Given the description of an element on the screen output the (x, y) to click on. 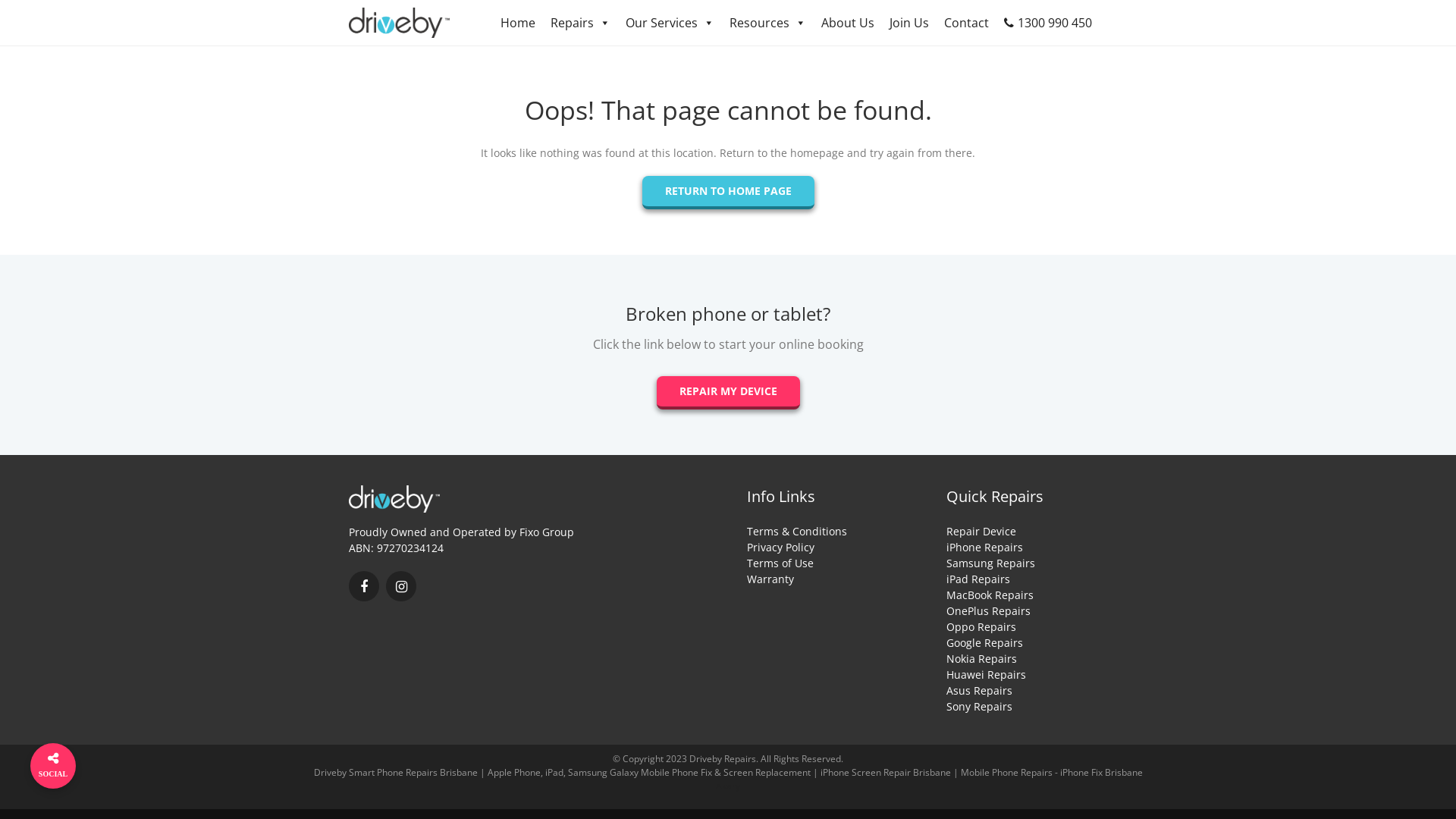
MacBook Repairs Element type: text (989, 594)
Resources Element type: text (767, 22)
Join Us Element type: text (908, 22)
Nokia Repairs Element type: text (981, 658)
iPad Repairs Element type: text (978, 578)
Google Repairs Element type: text (984, 642)
Huawei Repairs Element type: text (986, 674)
Contact Element type: text (966, 22)
Terms & Conditions Element type: text (796, 531)
Samsung Repairs Element type: text (990, 562)
iPhone Repairs Element type: text (984, 546)
Sony Repairs Element type: text (979, 706)
Repair Device Element type: text (981, 531)
Driveby - Smart Phone Repairs Element type: hover (393, 498)
Terms of Use Element type: text (779, 562)
RETURN TO HOME PAGE Element type: text (727, 192)
Repairs Element type: text (580, 22)
REPAIR MY DEVICE Element type: text (728, 392)
Privacy Policy Element type: text (780, 546)
Driveby - Smart Phone Repairs Element type: hover (398, 22)
Oppo Repairs Element type: text (981, 626)
Our Services Element type: text (669, 22)
Warranty Element type: text (769, 578)
Akary Element type: text (727, 785)
1300 990 450 Element type: text (1047, 22)
Asus Repairs Element type: text (979, 690)
Home Element type: text (517, 22)
About Us Element type: text (847, 22)
OnePlus Repairs Element type: text (988, 610)
